Given the description of an element on the screen output the (x, y) to click on. 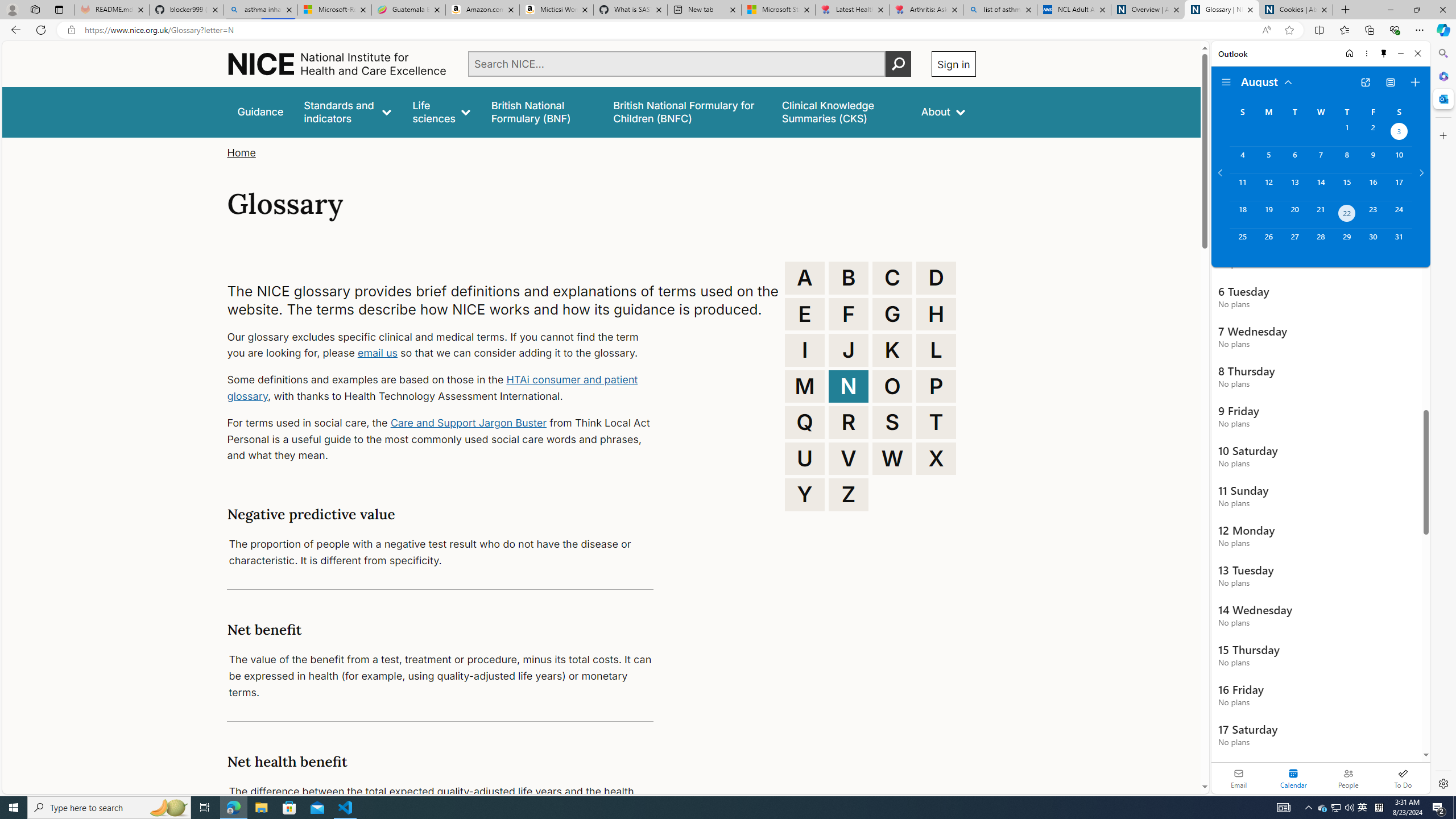
S (892, 422)
About (942, 111)
Friday, August 2, 2024.  (1372, 132)
New tab (703, 9)
Unpin side pane (1383, 53)
Glossary | NICE (1221, 9)
Life sciences (440, 111)
Sunday, August 4, 2024.  (1242, 159)
About (942, 111)
Monday, August 26, 2024.  (1268, 241)
